Given the description of an element on the screen output the (x, y) to click on. 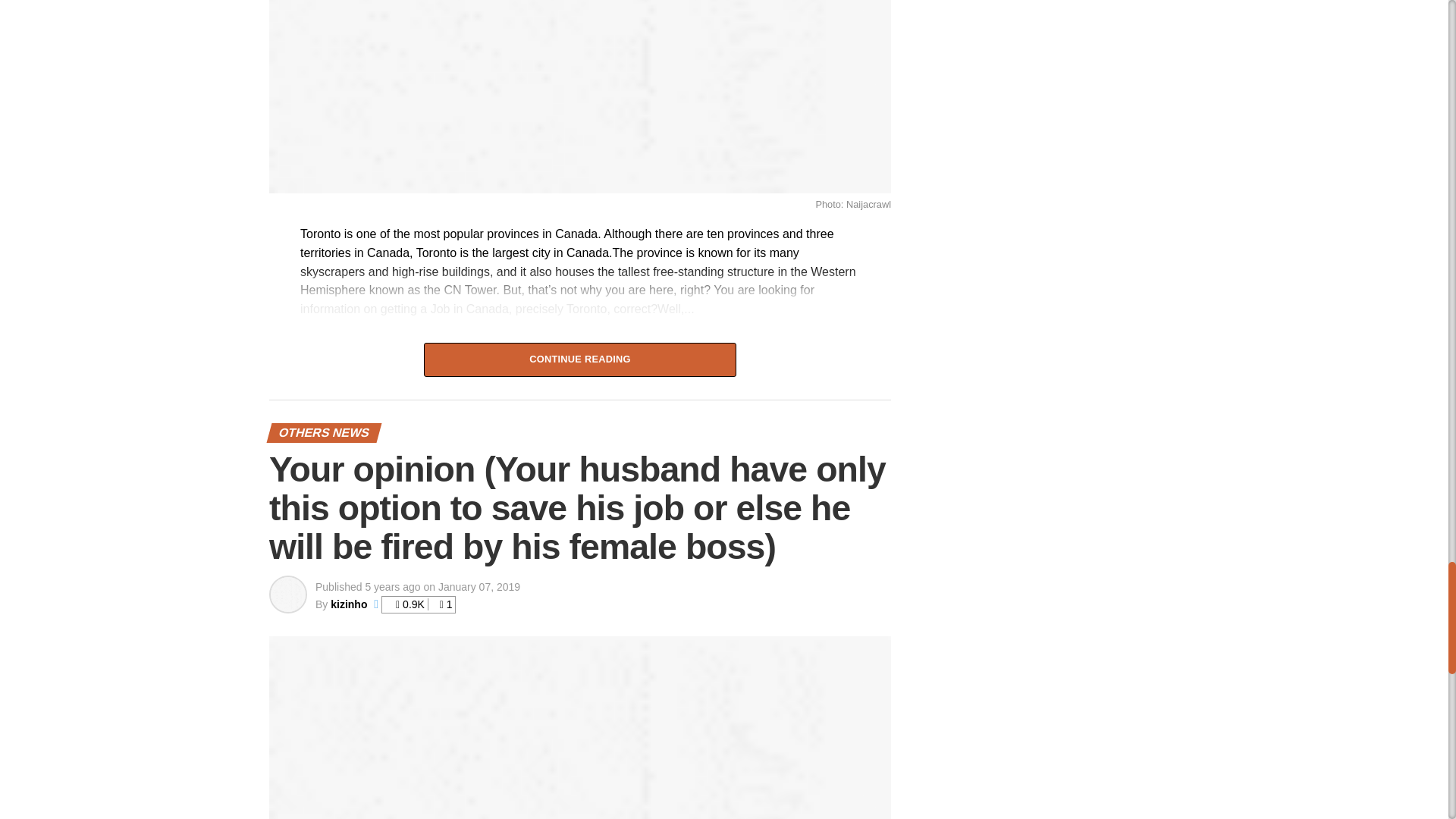
Posts by kizinho (348, 604)
